Given the description of an element on the screen output the (x, y) to click on. 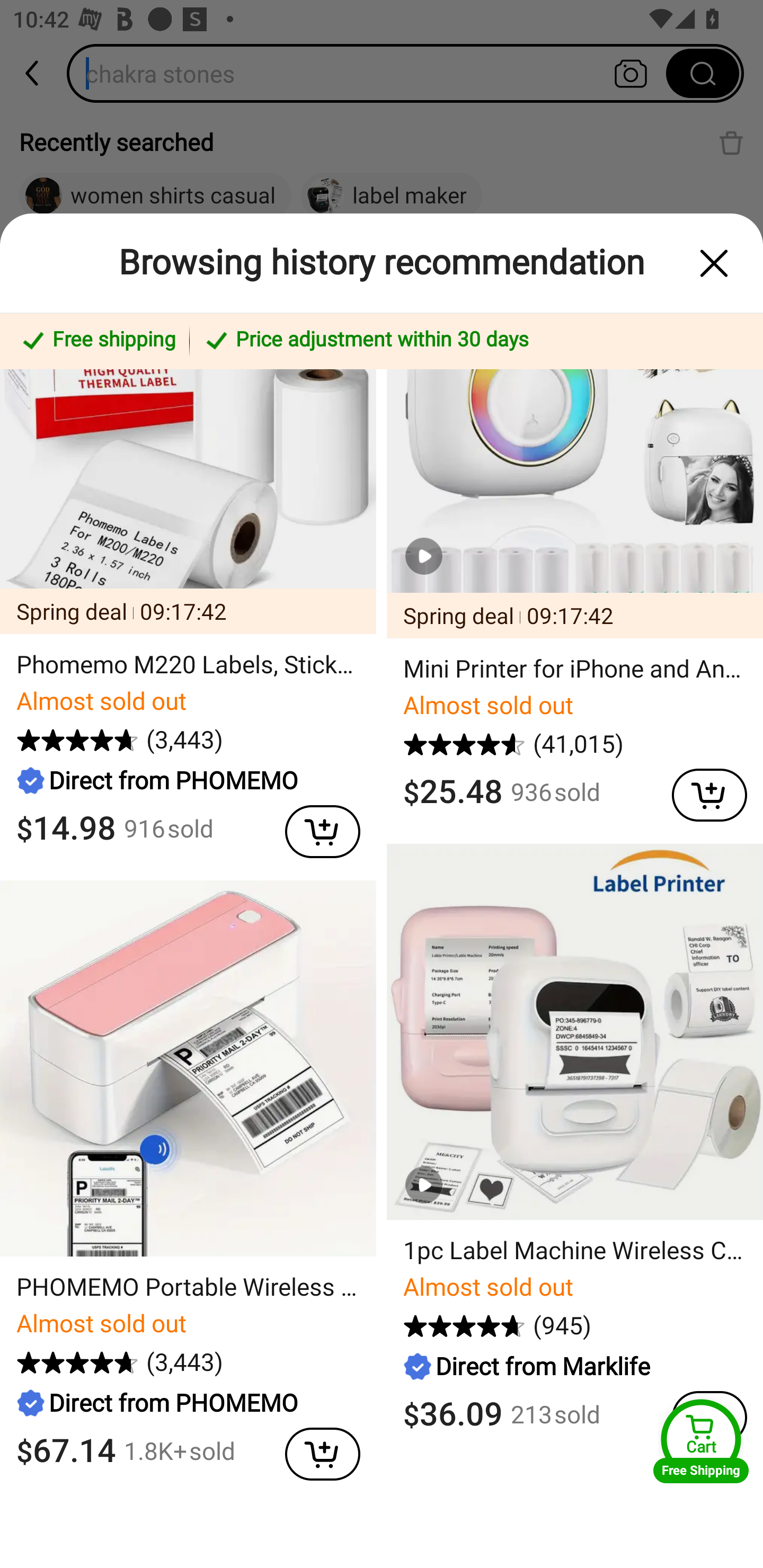
 (714, 263)
Free shipping (97, 340)
Price adjustment within 30 days (472, 340)
 (700, 790)
 (314, 827)
Cart Free Shipping Cart (701, 1440)
 (314, 1450)
